Given the description of an element on the screen output the (x, y) to click on. 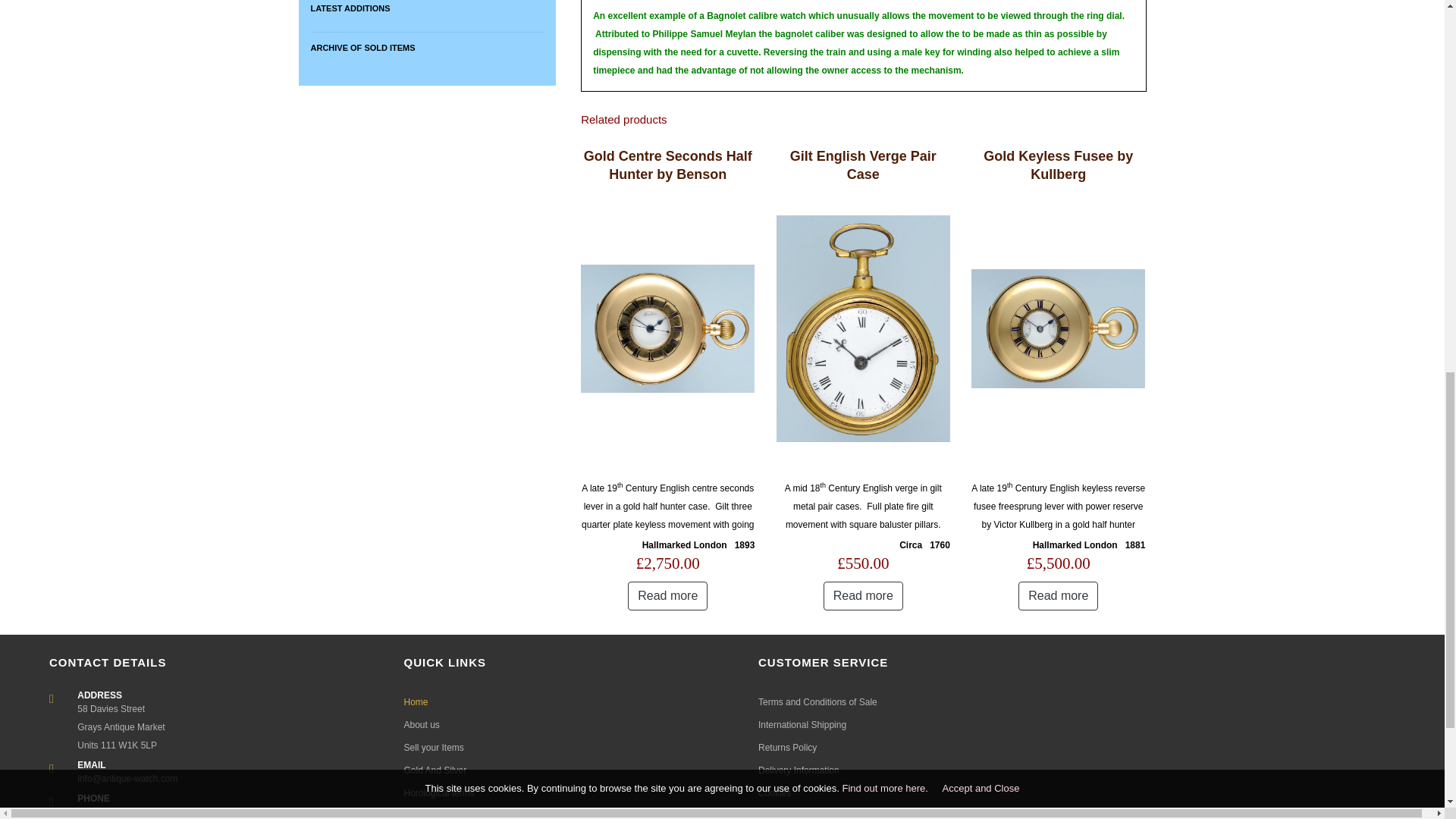
Read more (667, 595)
Read more (1057, 595)
Read more (863, 595)
